Given the description of an element on the screen output the (x, y) to click on. 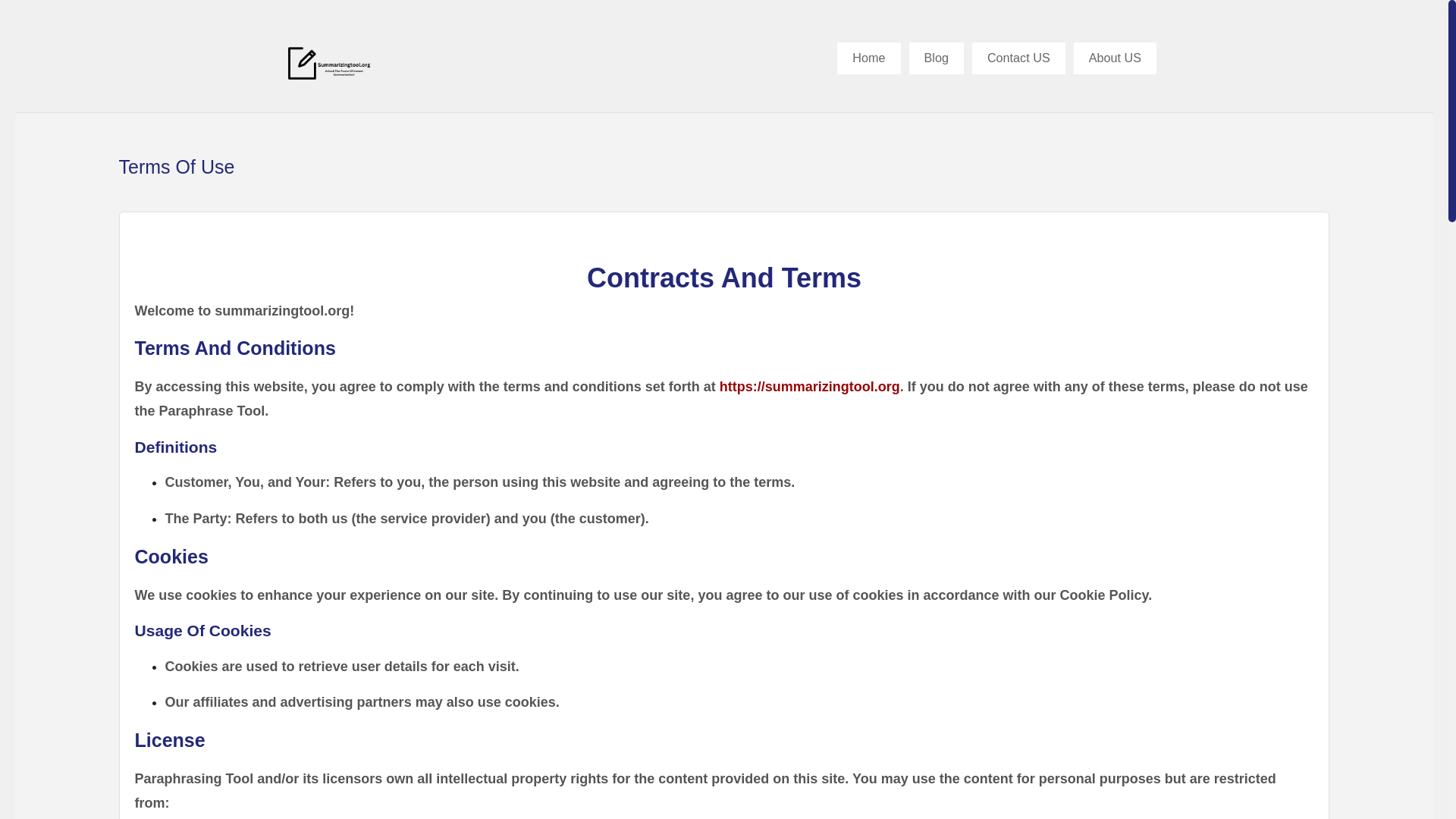
Contact US (1018, 58)
About US (1115, 58)
Home (868, 58)
Blog (935, 58)
